Given the description of an element on the screen output the (x, y) to click on. 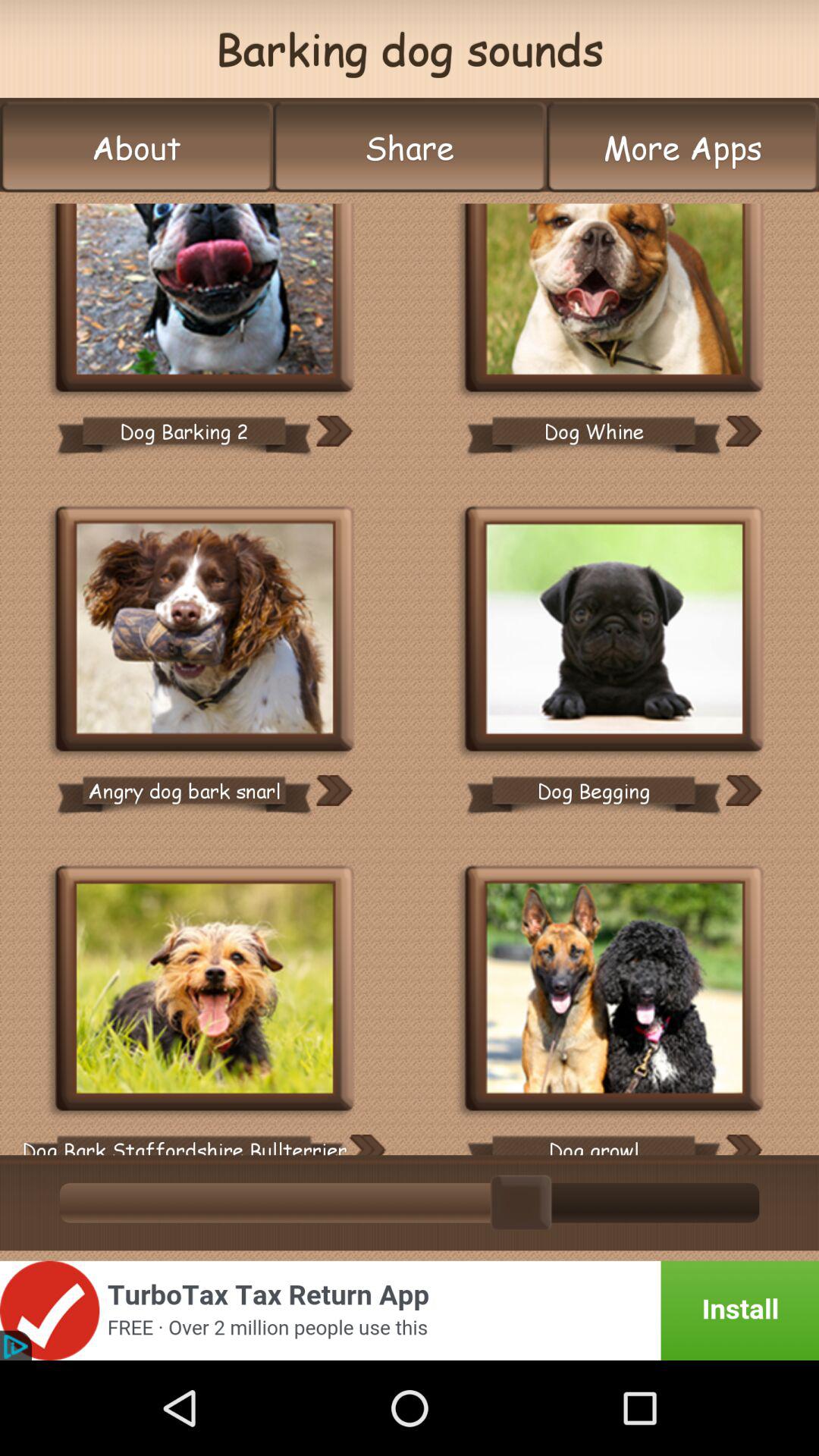
open button to the right of the about (409, 147)
